Given the description of an element on the screen output the (x, y) to click on. 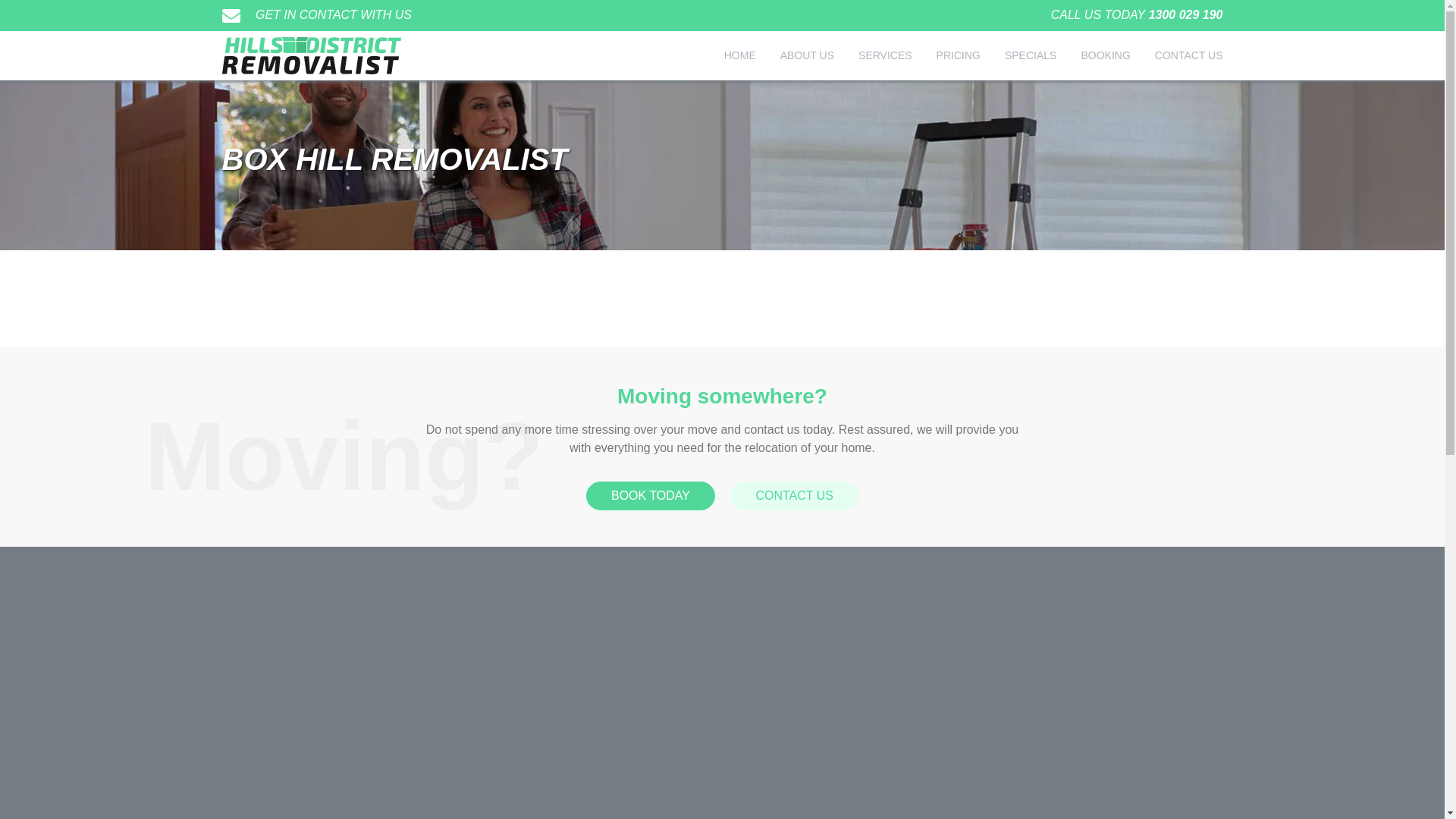
GET IN CONTACT WITH US Element type: text (316, 15)
CONTACT US Element type: text (794, 495)
HOME Element type: text (740, 55)
BOOKING Element type: text (1105, 55)
PRICING Element type: text (958, 55)
CONTACT US Element type: text (1188, 55)
SPECIALS Element type: text (1030, 55)
BOOK TODAY Element type: text (650, 495)
SERVICES Element type: text (885, 55)
CALL US TODAY 1300 029 190 Element type: text (1137, 14)
ABOUT US Element type: text (807, 55)
